Given the description of an element on the screen output the (x, y) to click on. 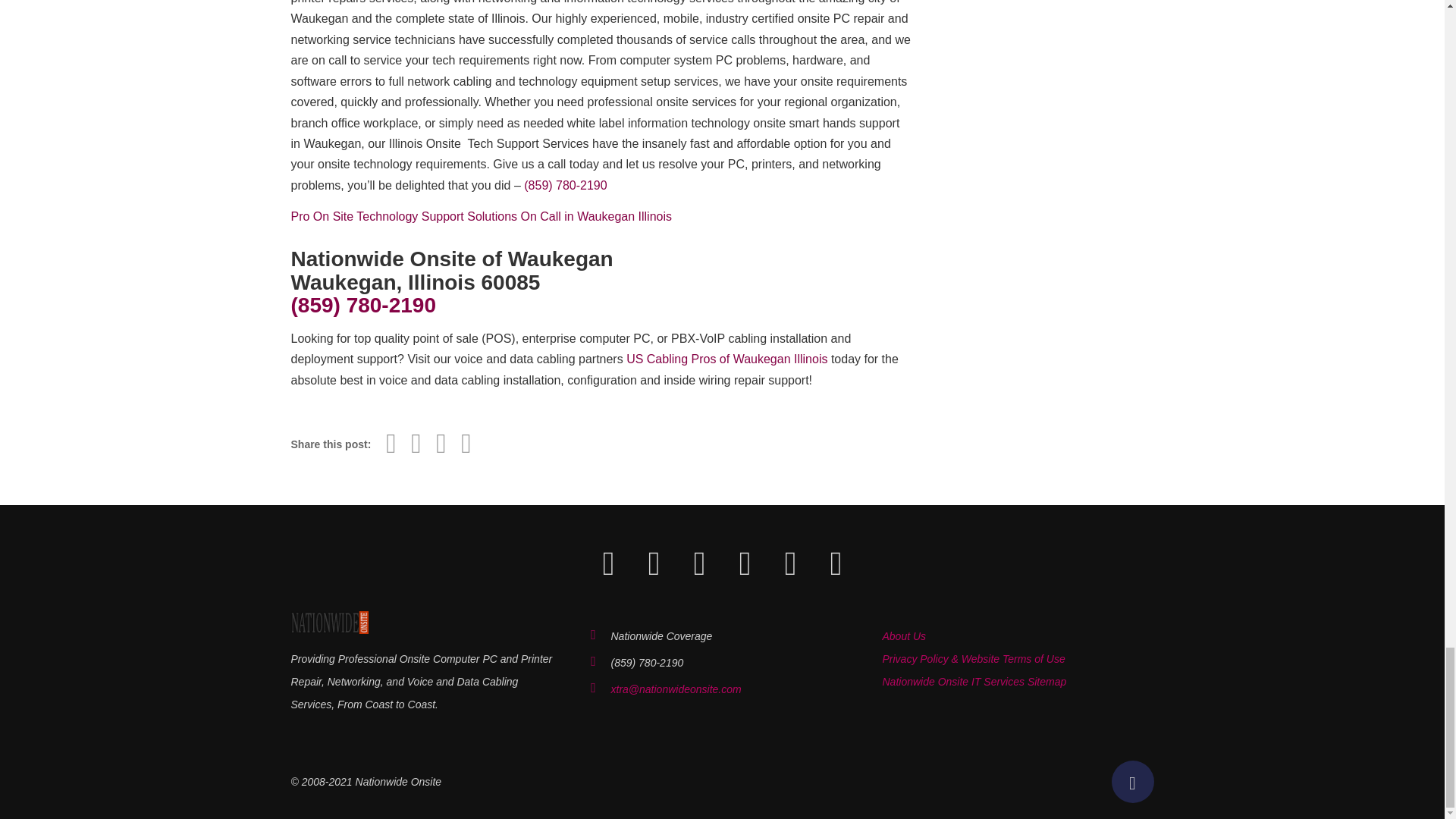
Scroll to top (1133, 781)
